Given the description of an element on the screen output the (x, y) to click on. 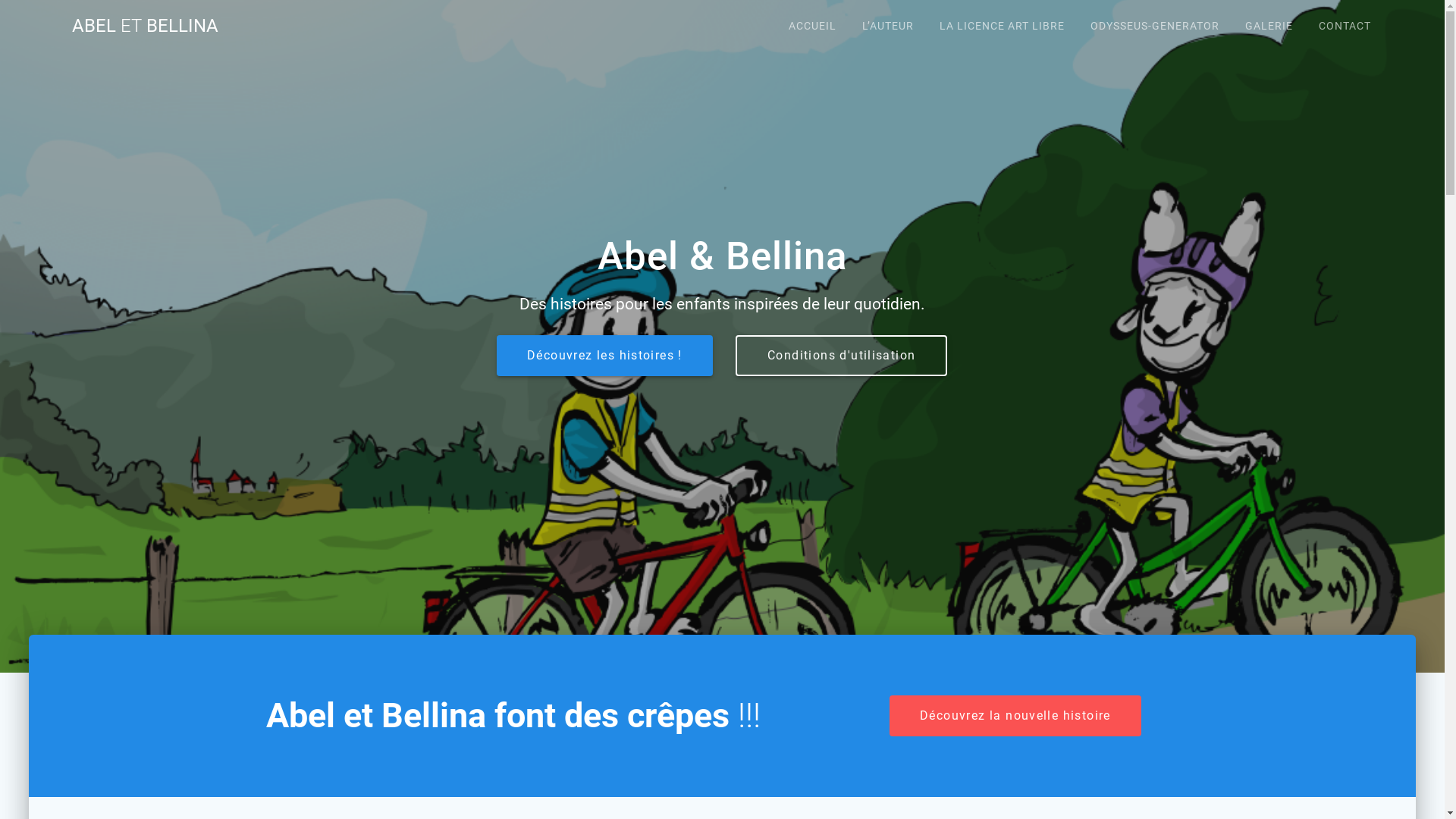
CONTACT Element type: text (1344, 25)
ABEL ET BELLINA Element type: text (145, 25)
LA LICENCE ART LIBRE Element type: text (1001, 25)
GALERIE Element type: text (1268, 25)
ACCUEIL Element type: text (812, 25)
ODYSSEUS-GENERATOR Element type: text (1154, 25)
Conditions d'utilisation Element type: text (841, 355)
